Given the description of an element on the screen output the (x, y) to click on. 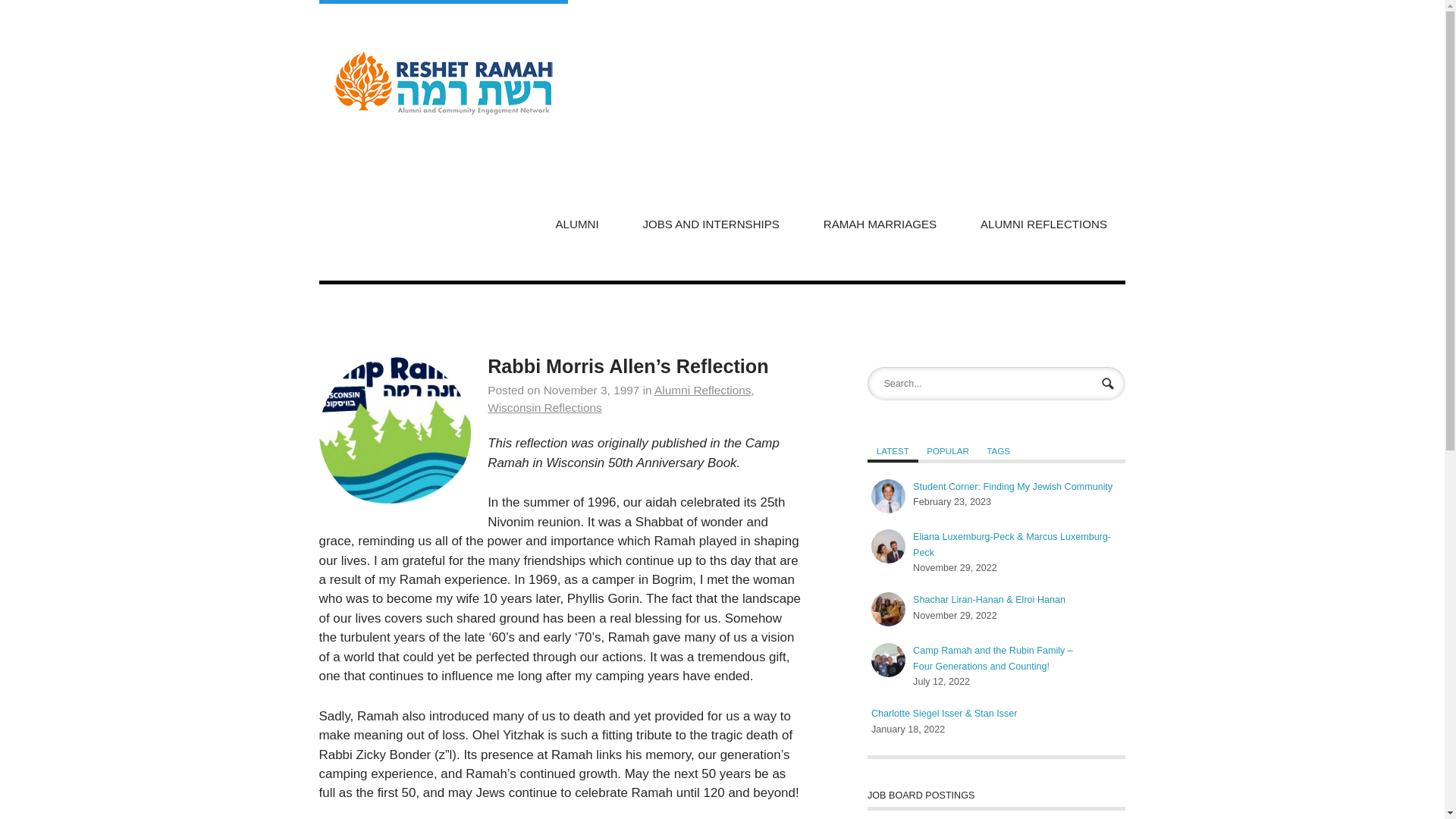
Search (1109, 385)
Alumni Network and Community Engagement (442, 81)
Search (1109, 385)
POPULAR (948, 450)
Student Corner: Finding My Jewish Community (887, 496)
Wisconsin Reflections (544, 407)
LATEST (892, 450)
RAMAH MARRIAGES (880, 221)
Alumni Reflections (702, 390)
JOBS AND INTERNSHIPS (710, 221)
Search (1109, 385)
ALUMNI REFLECTIONS (1042, 221)
Student Corner: Finding My Jewish Community (1012, 486)
